Given the description of an element on the screen output the (x, y) to click on. 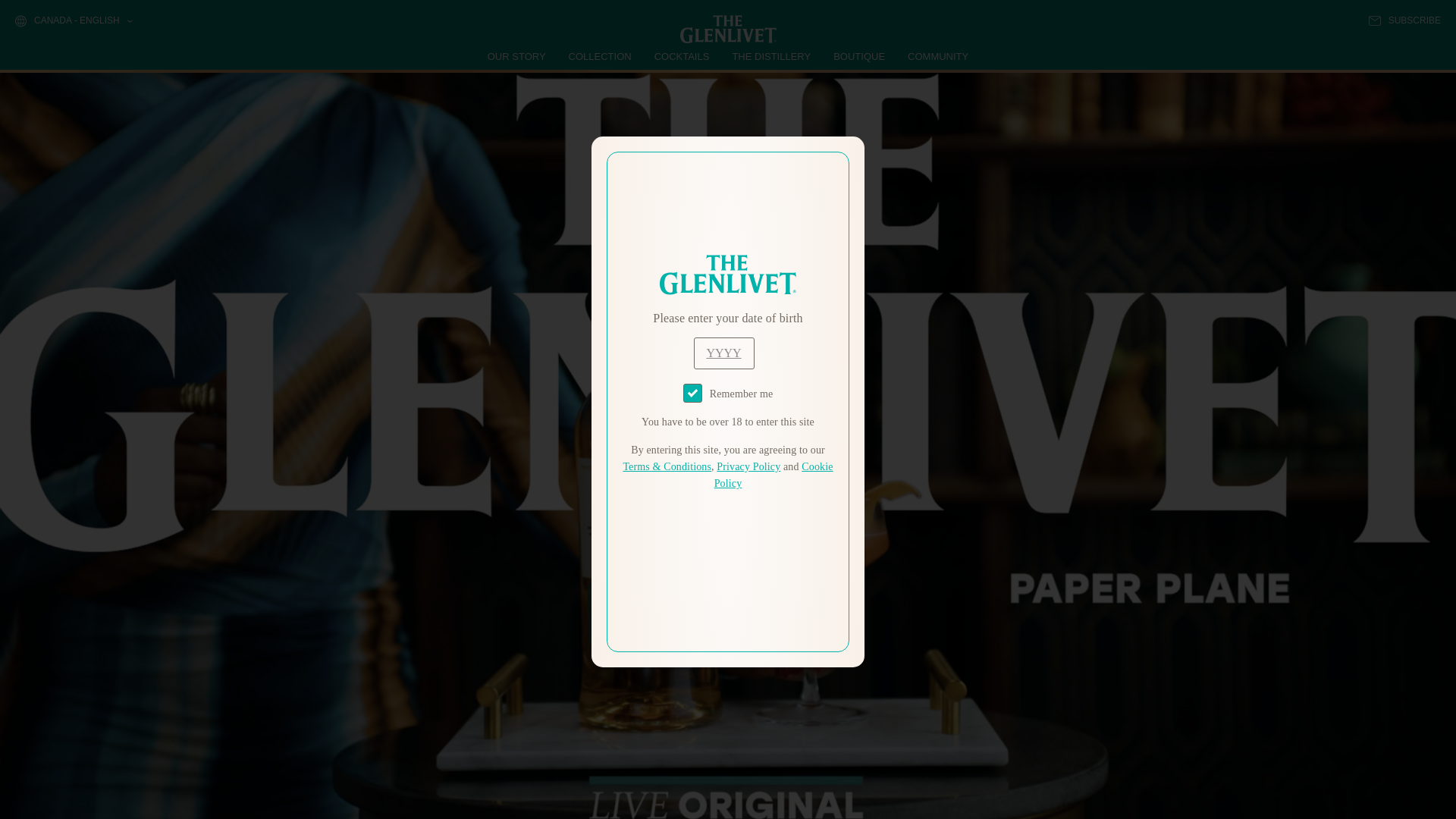
COCKTAILS (681, 56)
THE DISTILLERY (771, 56)
CANADA - ENGLISH (73, 21)
COMMUNITY (937, 56)
COLLECTION (600, 56)
year (723, 353)
OUR STORY (516, 56)
Cookie Policy (773, 474)
SUBSCRIBE (1404, 20)
BOUTIQUE (858, 56)
